Given the description of an element on the screen output the (x, y) to click on. 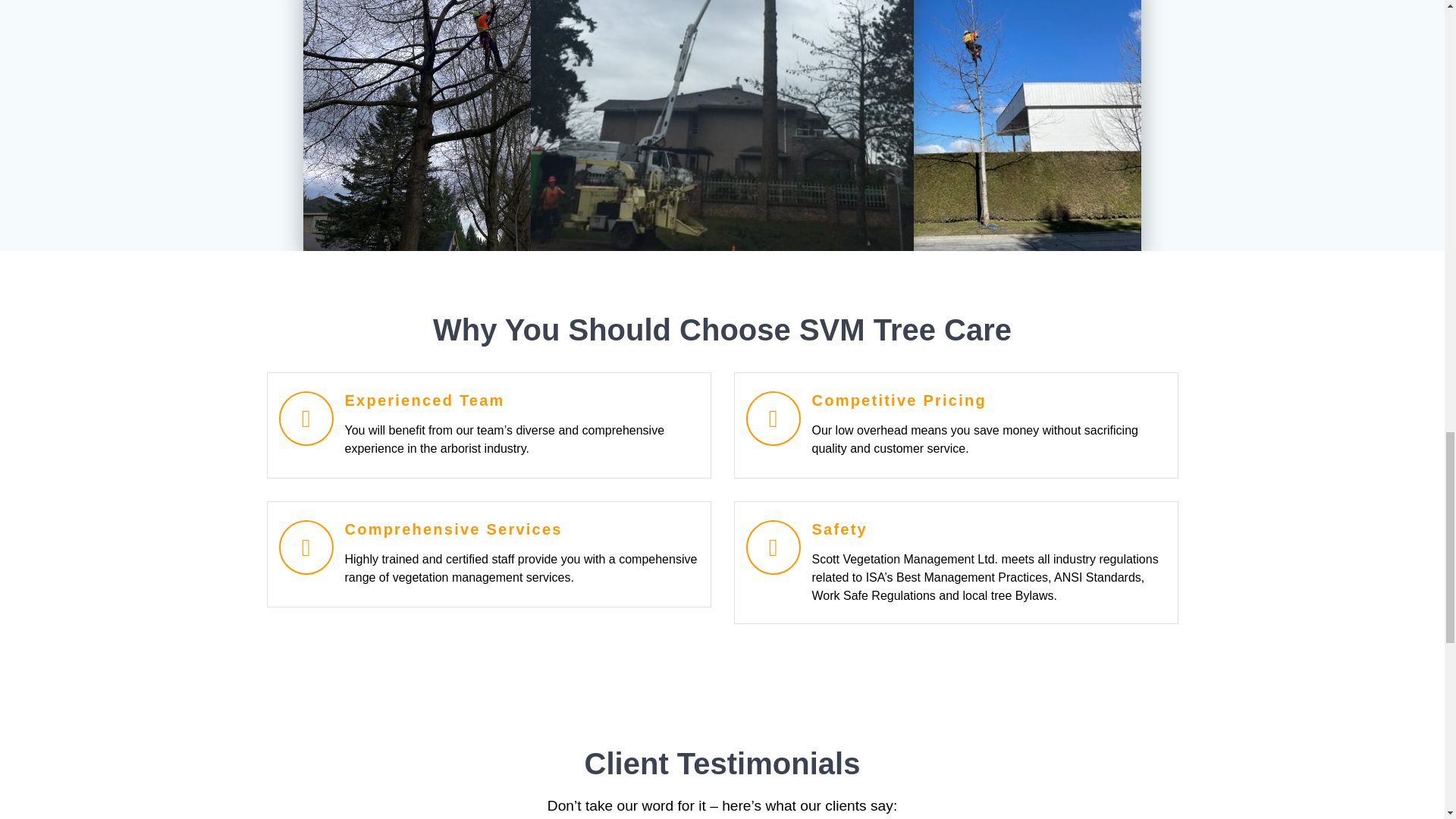
cropped-SVM-Tree-Care-13.jpg (722, 125)
cropped-SVM-Tree-Care-9-4.jpg (462, 125)
cropped-SVM-Tree-Care-8-1.jpg (981, 125)
